Given the description of an element on the screen output the (x, y) to click on. 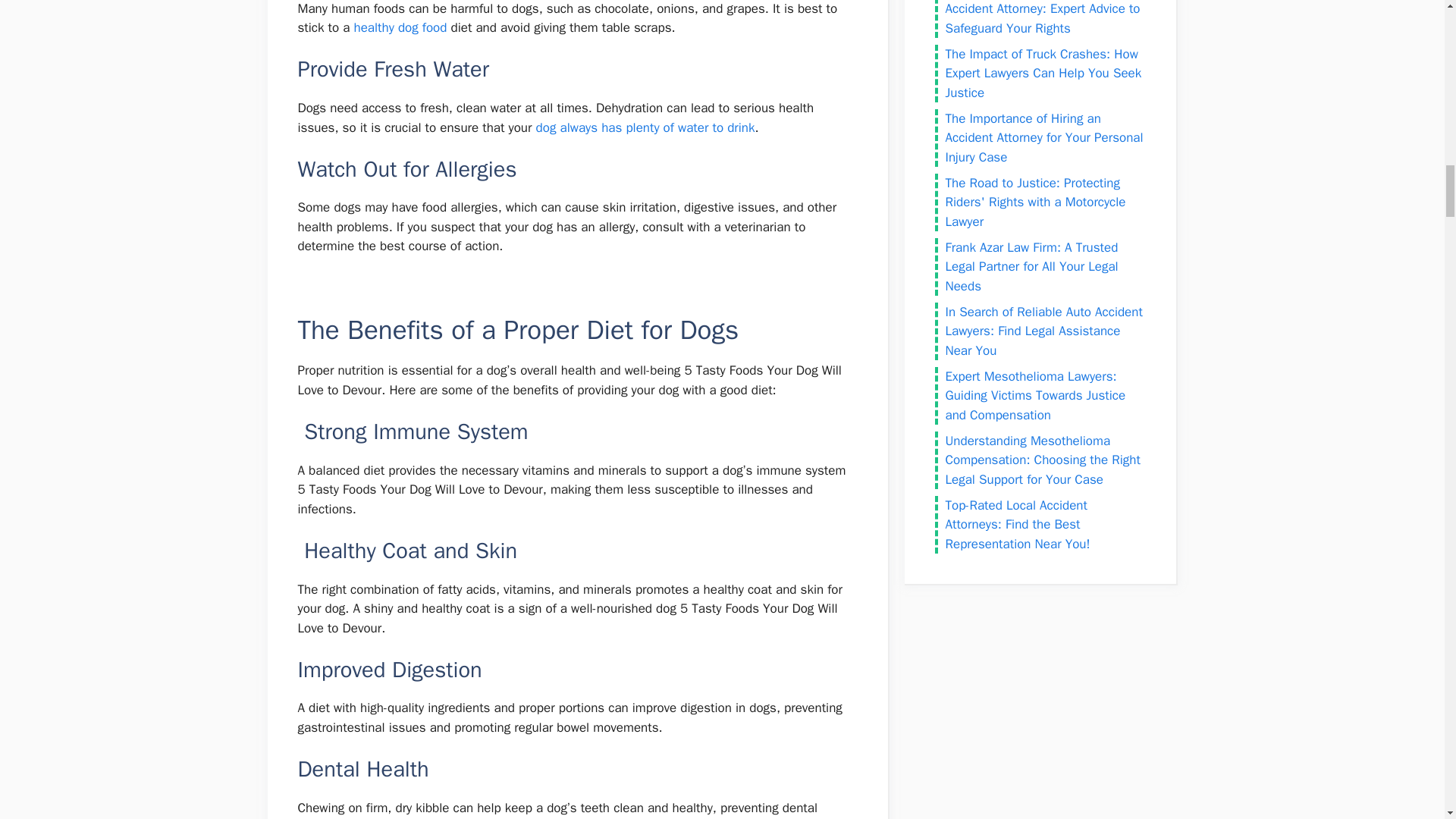
dog always has plenty of water to drink (645, 127)
healthy dog food (399, 27)
